Given the description of an element on the screen output the (x, y) to click on. 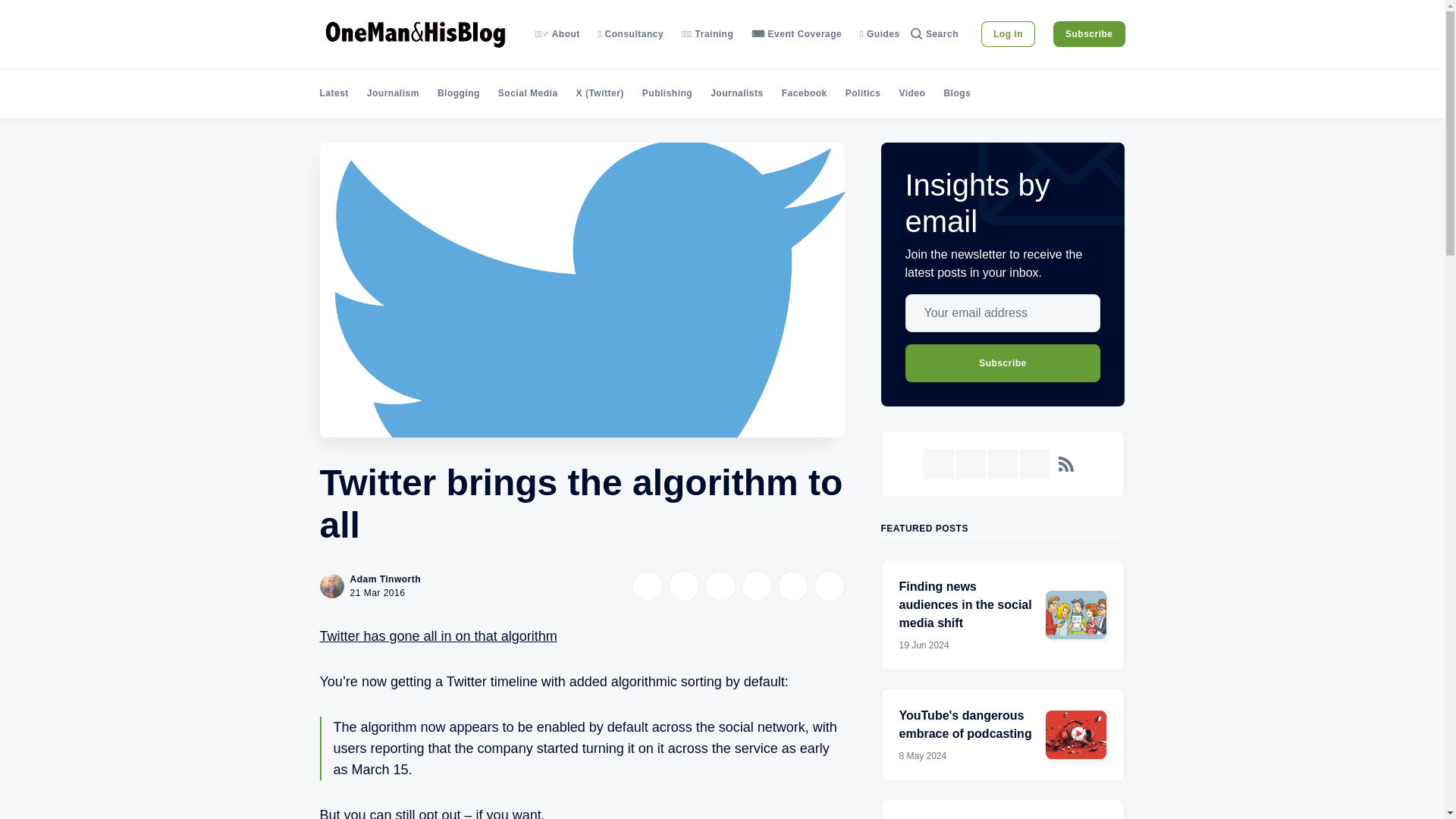
Log in (1008, 33)
Search (933, 33)
Twitter has gone all in on that algorithm (438, 635)
Facebook (804, 92)
Social Media (527, 92)
Share on Facebook (683, 585)
Copy link (828, 585)
Adam Tinworth (386, 579)
Share on Twitter (646, 585)
Share on Pinterest (756, 585)
Subscribe (1088, 33)
Share via Email (792, 585)
Journalism (392, 92)
Share on LinkedIn (719, 585)
Publishing (667, 92)
